Given the description of an element on the screen output the (x, y) to click on. 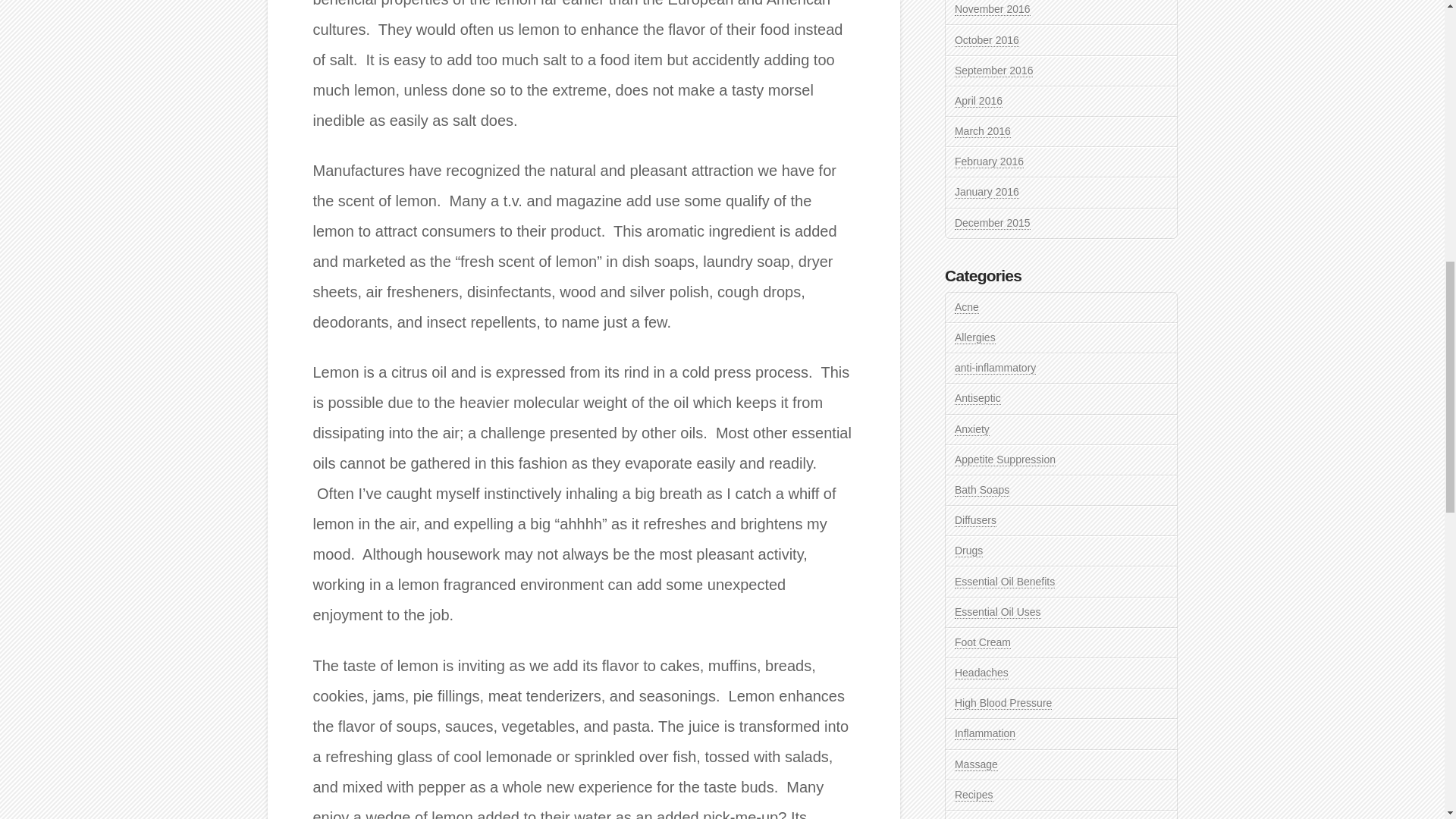
October 2016 (987, 40)
anti-inflammatory (995, 367)
January 2016 (987, 192)
Acne (966, 307)
Bath Soaps (982, 490)
September 2016 (994, 70)
November 2016 (992, 9)
December 2015 (992, 223)
April 2016 (979, 101)
Appetite Suppression (1005, 459)
Allergies (975, 337)
March 2016 (982, 131)
February 2016 (989, 161)
Anxiety (972, 429)
Antiseptic (978, 398)
